Given the description of an element on the screen output the (x, y) to click on. 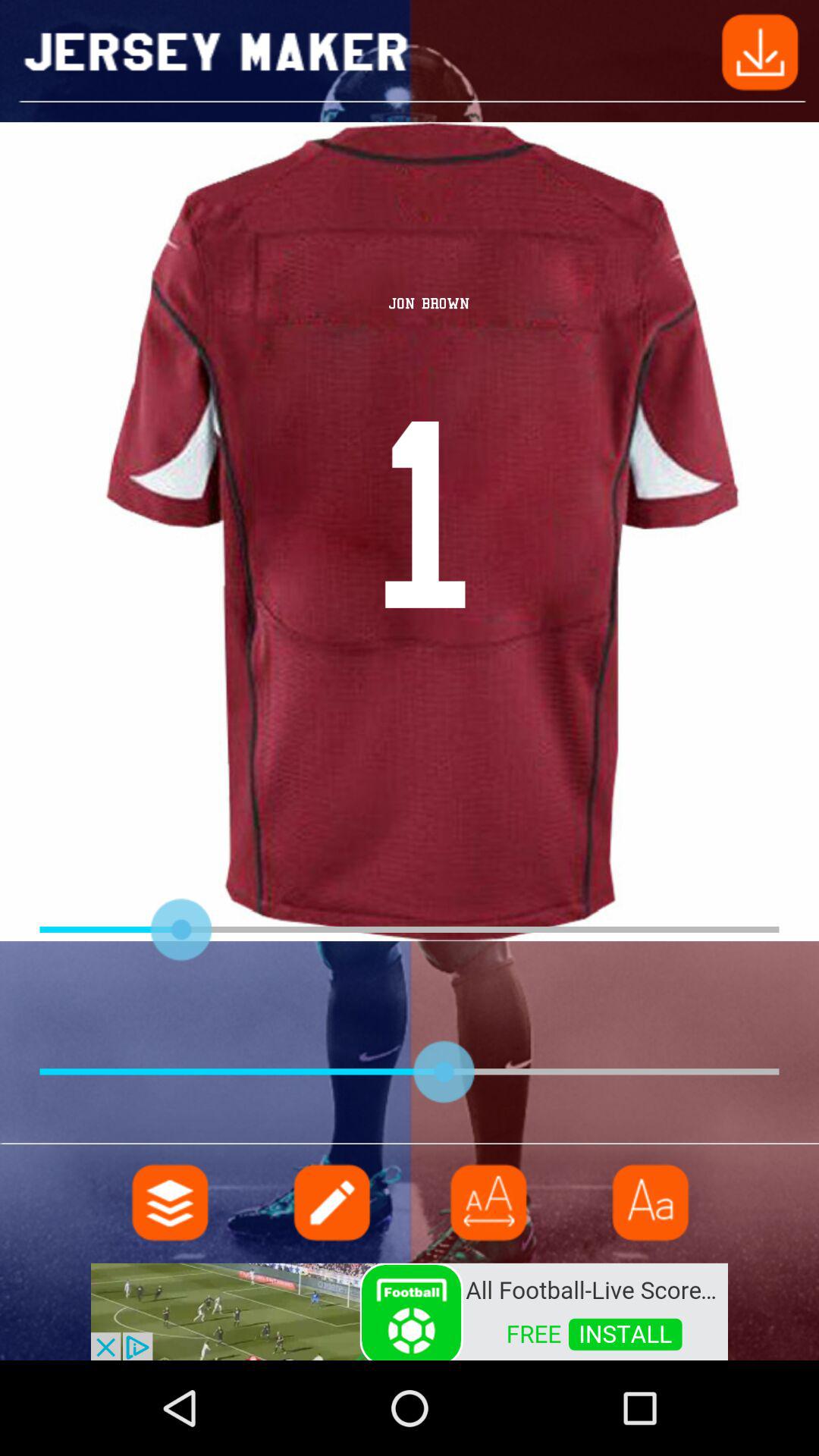
icon page (648, 1202)
